Given the description of an element on the screen output the (x, y) to click on. 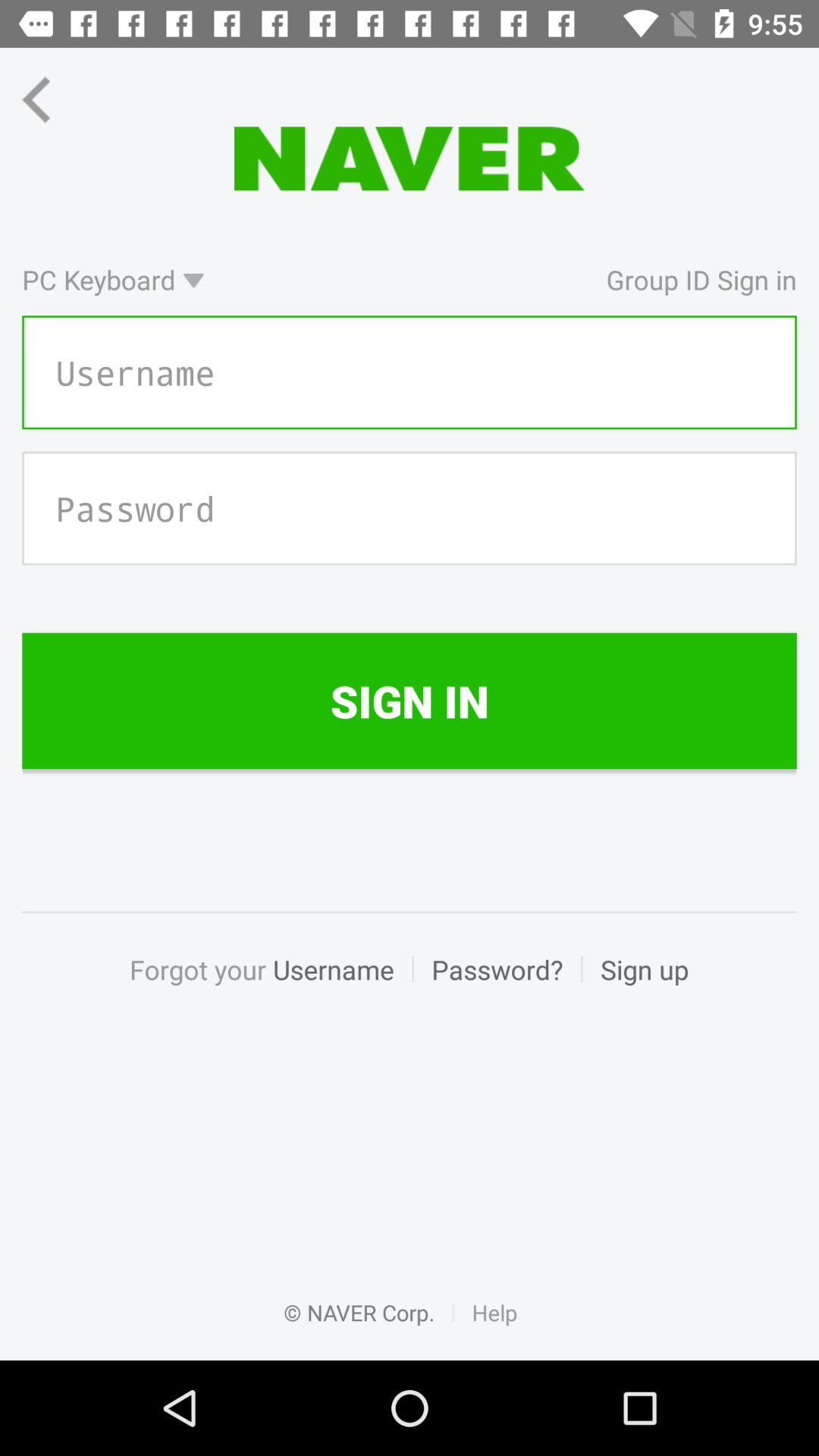
choose the password? app (497, 985)
